Given the description of an element on the screen output the (x, y) to click on. 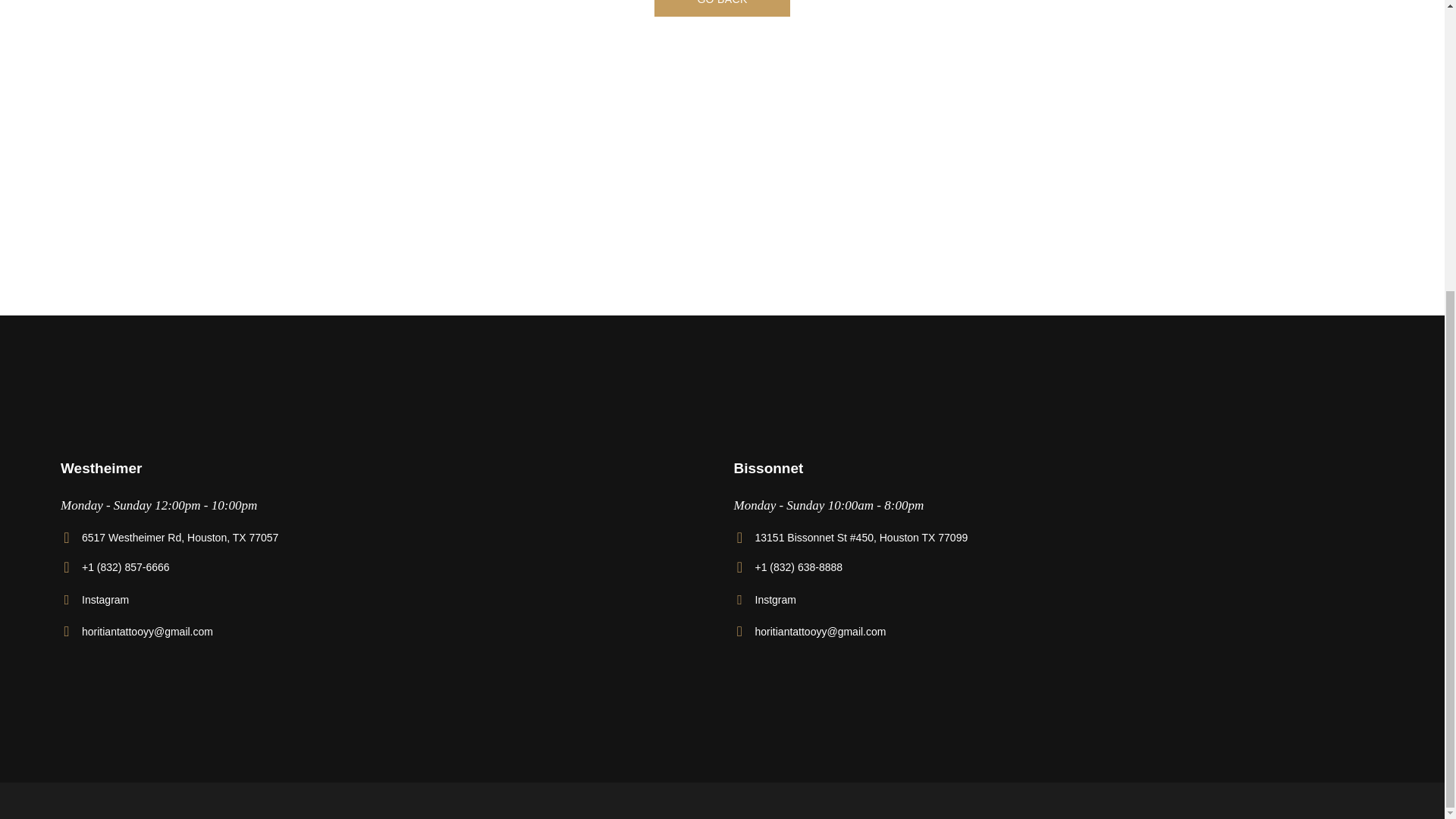
GO BACK (721, 8)
